Given the description of an element on the screen output the (x, y) to click on. 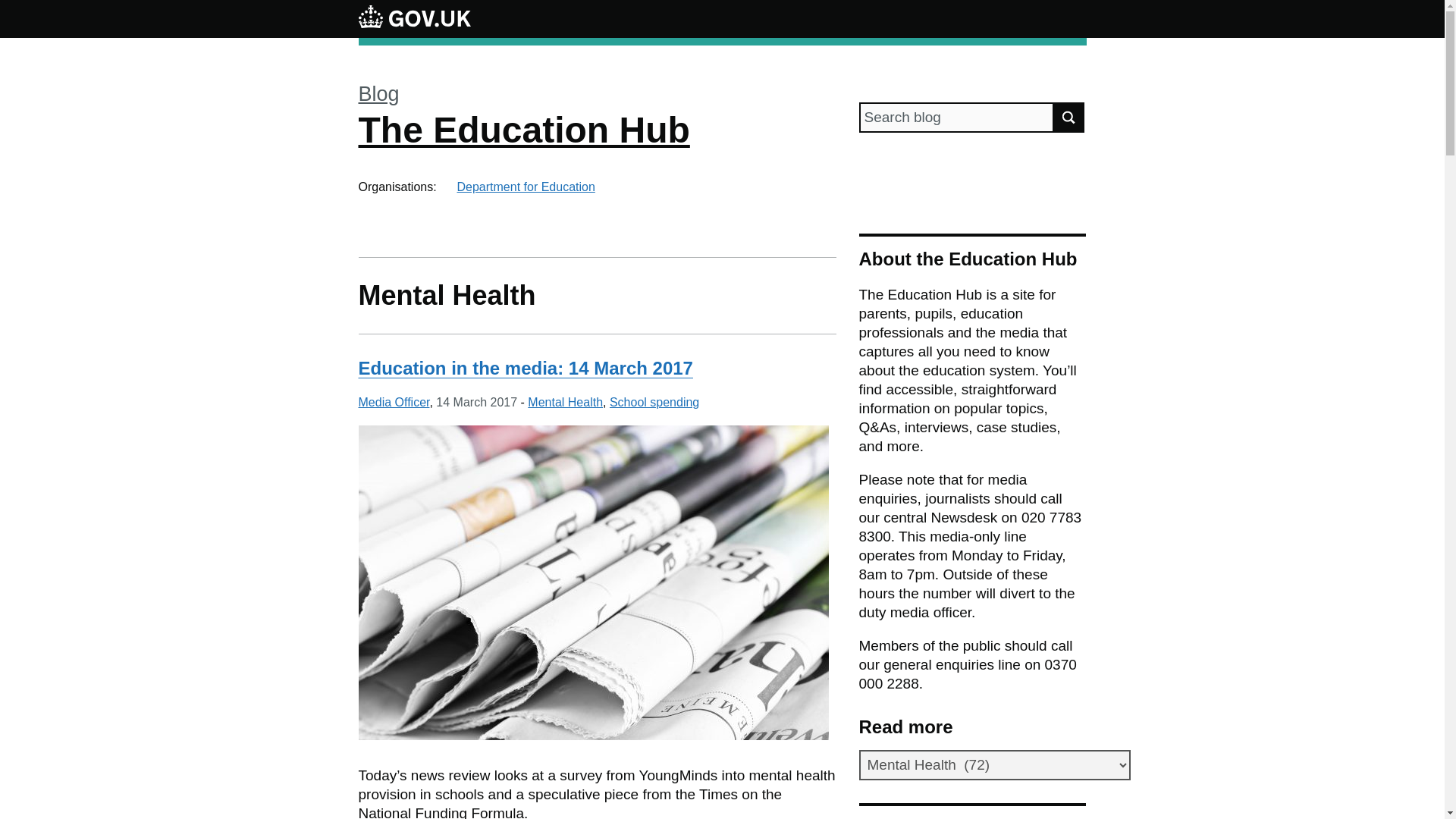
Search (1069, 117)
GOV.UK (414, 18)
Skip to main content (11, 7)
The Education Hub (523, 129)
Education in the media: 14 March 2017 (525, 367)
School spending (654, 401)
Blog (378, 93)
GOV.UK (414, 15)
Department for Education (525, 186)
Go to the GOV.UK homepage (414, 18)
